Given the description of an element on the screen output the (x, y) to click on. 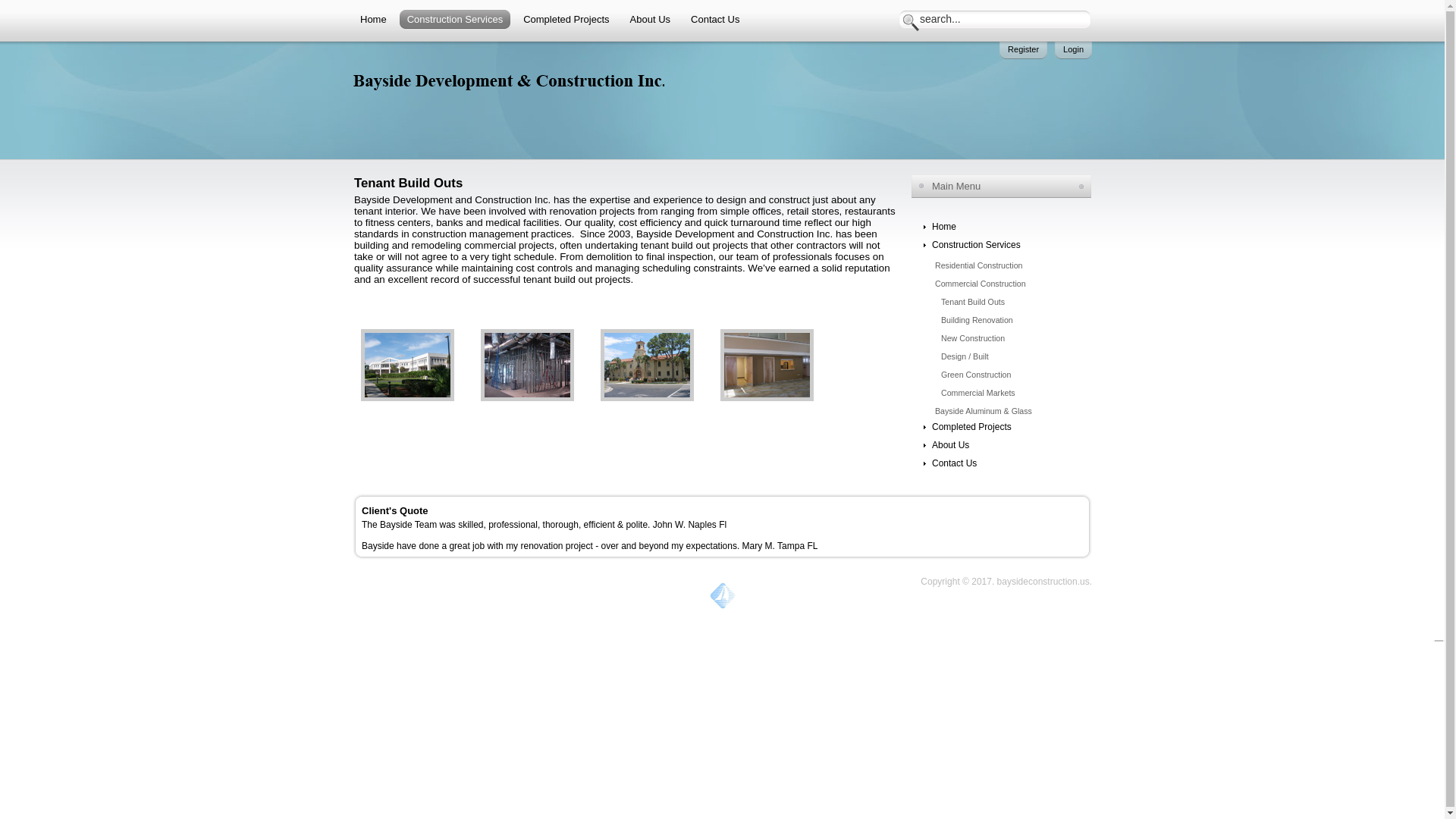
Home (1002, 226)
About Us (650, 20)
Home (373, 20)
Construction Services (454, 20)
Contact Us (714, 20)
Residential Construction (1004, 264)
Completed Projects (565, 20)
Construction Services (1002, 244)
Veterans Administration Medical Center, Bay Pines, FL  (646, 398)
Veterans Administration Medical Center, Bay Pines, FL  (766, 398)
search... (975, 19)
